Given the description of an element on the screen output the (x, y) to click on. 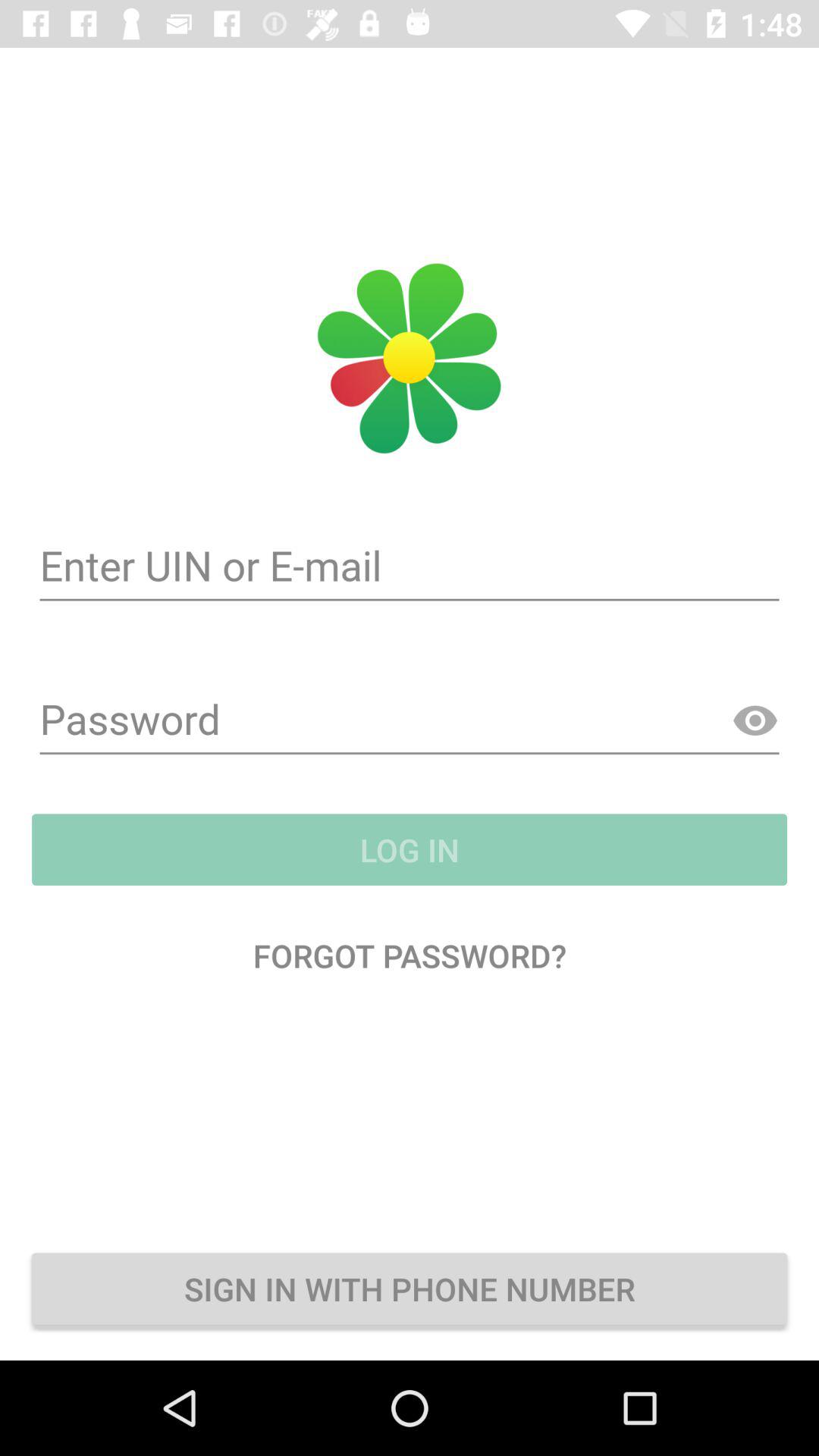
choose item below forgot password? (409, 1288)
